Given the description of an element on the screen output the (x, y) to click on. 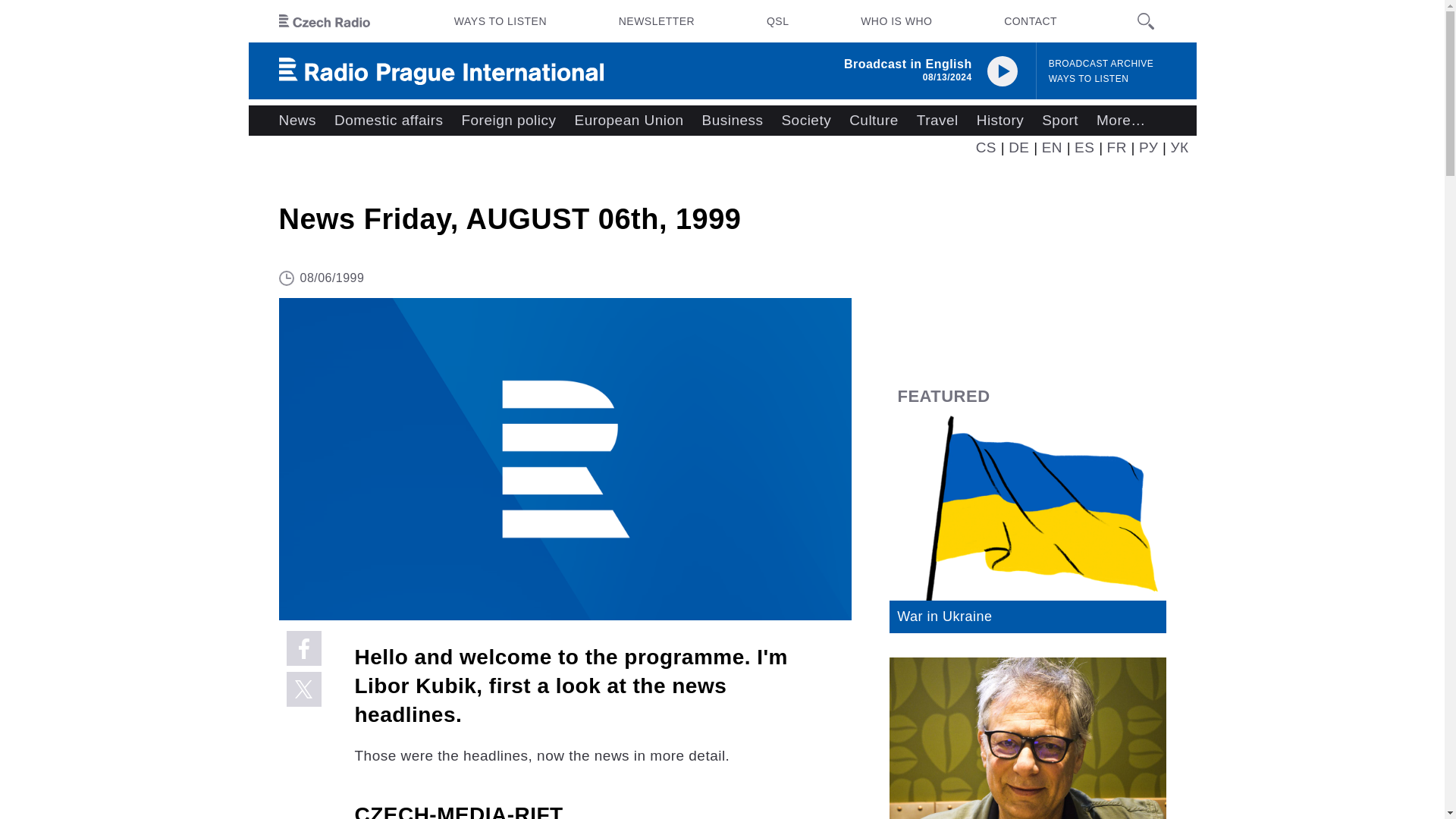
Foreign policy (507, 120)
History (1000, 120)
European Union (628, 120)
News (296, 120)
EN (1052, 147)
NEWSLETTER (656, 21)
BROADCAST ARCHIVE (1101, 63)
Czech Radio (324, 21)
CS (985, 147)
Travel (937, 120)
